Given the description of an element on the screen output the (x, y) to click on. 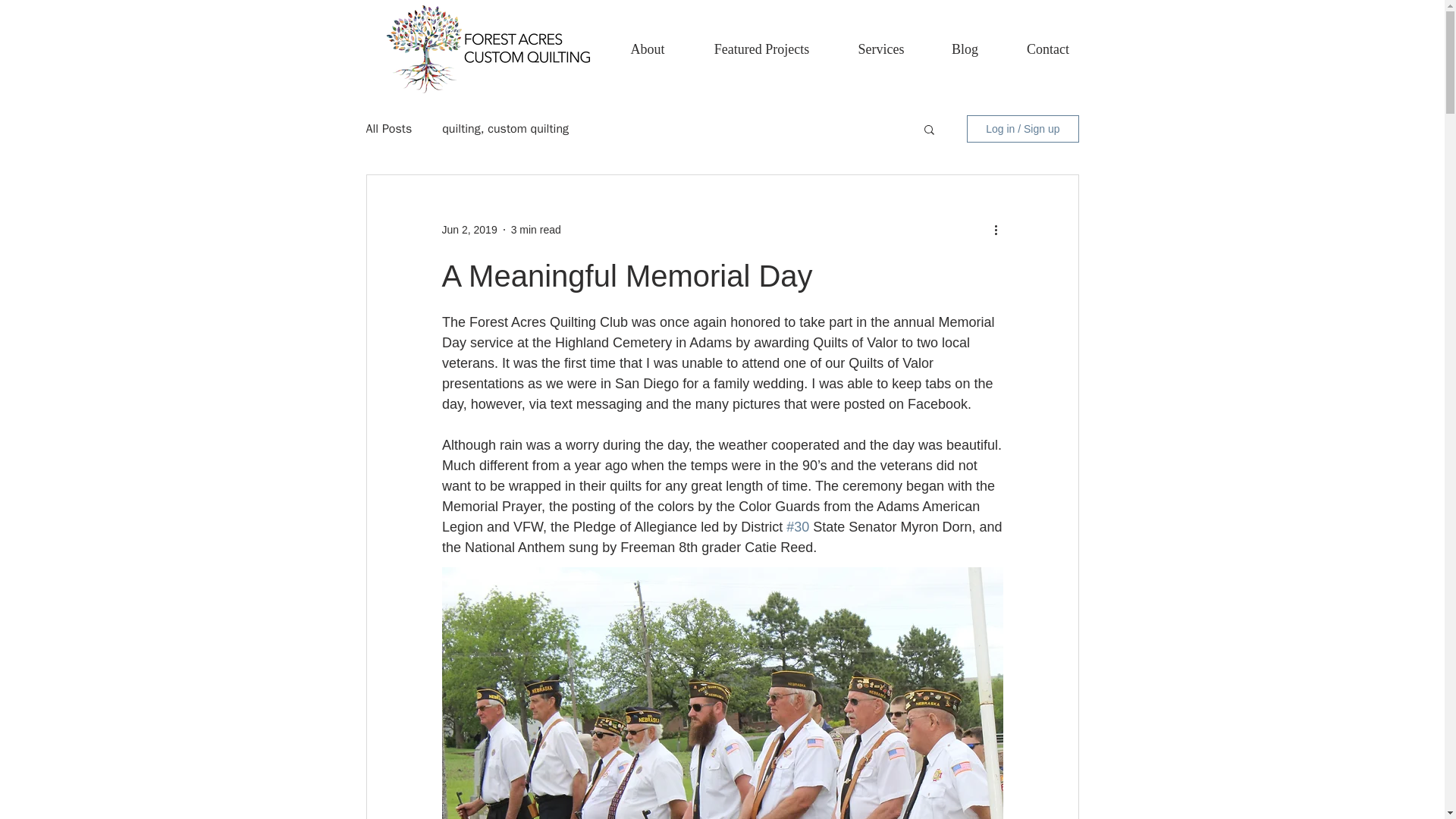
Services (880, 48)
Jun 2, 2019 (468, 228)
Featured Projects (761, 48)
About (647, 48)
All Posts (388, 129)
Blog (965, 48)
quilting, custom quilting (505, 129)
FACC Horizontal Logo - Black.png (488, 48)
Contact (1048, 48)
3 min read (535, 228)
